Given the description of an element on the screen output the (x, y) to click on. 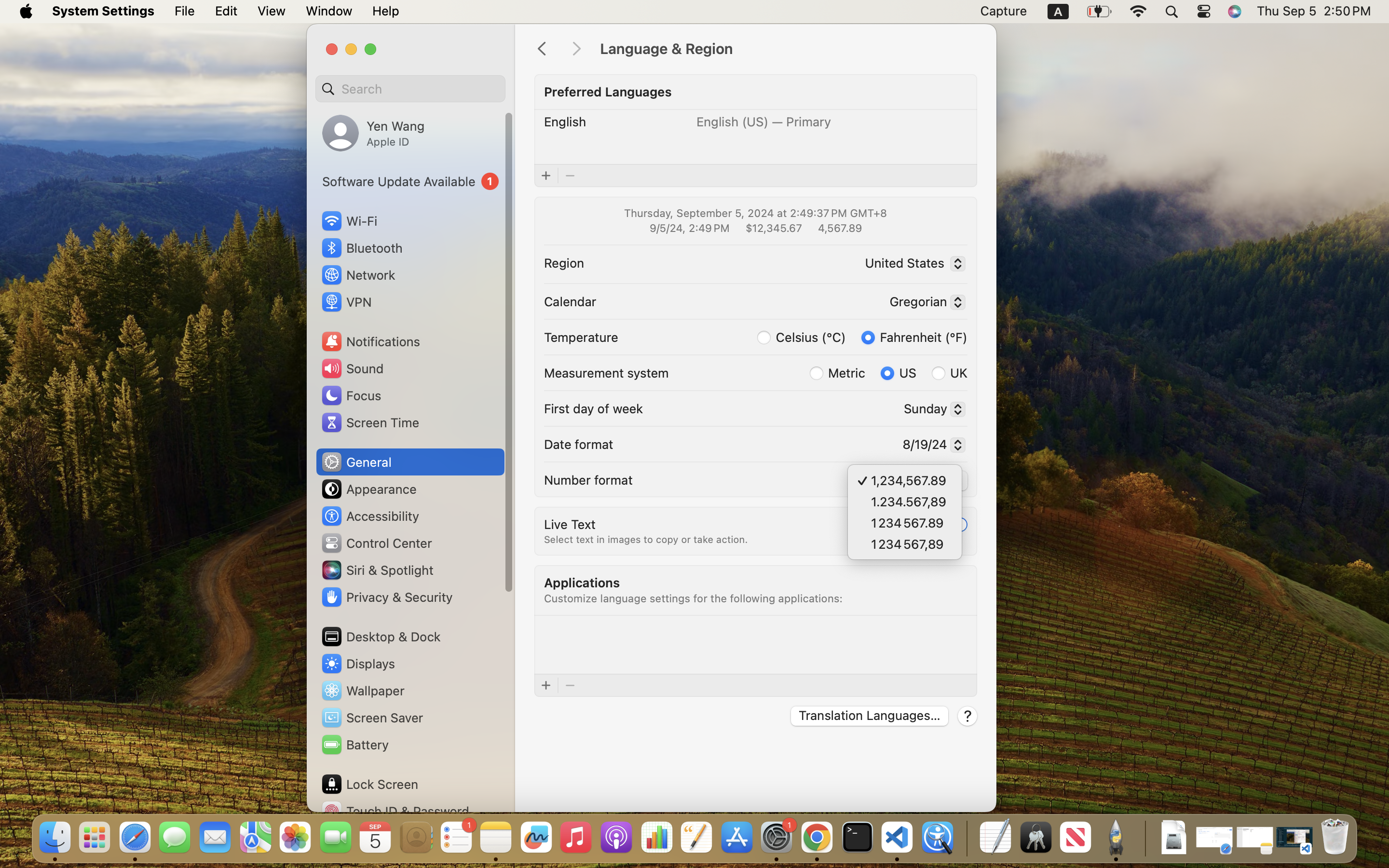
Calendar Element type: AXStaticText (570, 300)
0.4285714328289032 Element type: AXDockItem (965, 837)
Appearance Element type: AXStaticText (368, 488)
Thursday, September 5, 2024 at 2:49:37 PM GMT+8 Element type: AXStaticText (755, 212)
